Given the description of an element on the screen output the (x, y) to click on. 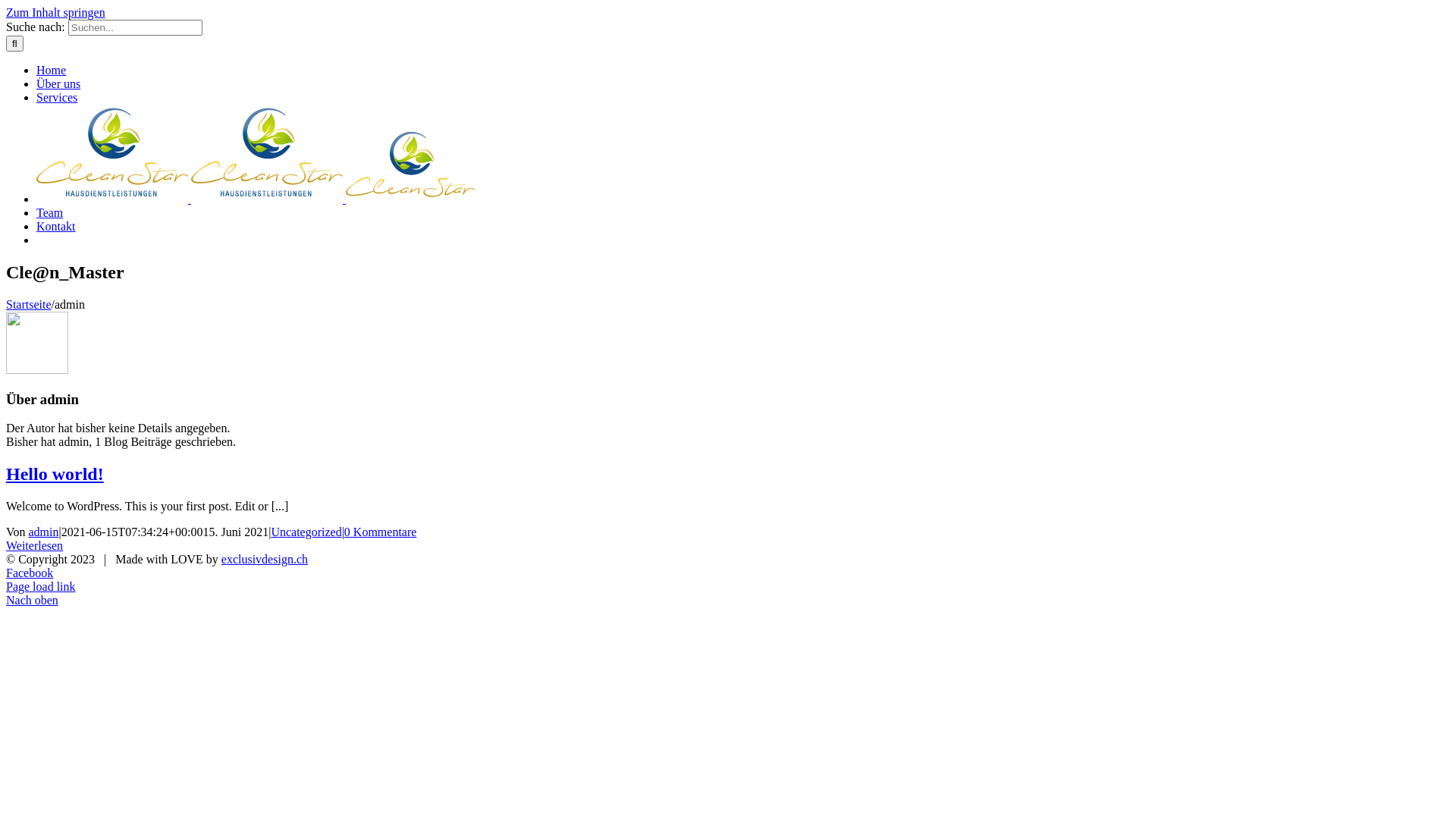
Kontakt Element type: text (55, 225)
0 Kommentare Element type: text (380, 531)
Hello world! Element type: text (54, 473)
Startseite Element type: text (28, 304)
Services Element type: text (56, 97)
exclusivdesign.ch Element type: text (264, 558)
admin Element type: text (43, 531)
Page load link Element type: text (40, 586)
Home Element type: text (50, 69)
Weiterlesen Element type: text (34, 545)
Nach oben Element type: text (32, 599)
Zum Inhalt springen Element type: text (55, 12)
Facebook Element type: text (29, 572)
Uncategorized Element type: text (305, 531)
Team Element type: text (49, 212)
